Given the description of an element on the screen output the (x, y) to click on. 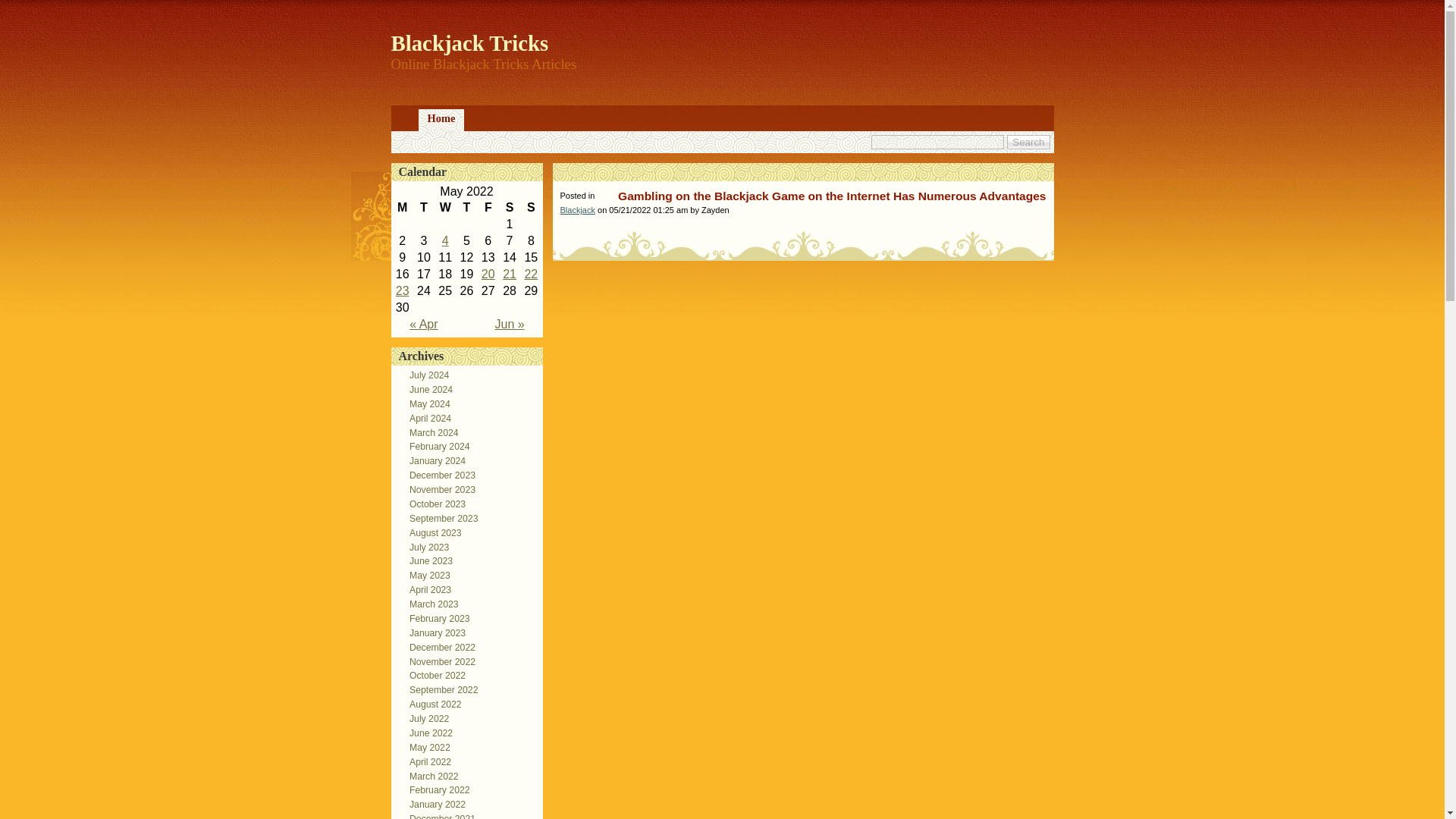
Search (1028, 142)
21 (509, 273)
Wednesday (444, 207)
February 2024 (435, 446)
Home (441, 119)
April 2023 (425, 589)
Monday (402, 207)
February 2023 (435, 618)
June 2022 (426, 733)
June 2023 (426, 561)
23 (402, 290)
View posts for June 2022 (509, 323)
June 2024 (426, 389)
July 2022 (424, 718)
March 2023 (429, 603)
